Given the description of an element on the screen output the (x, y) to click on. 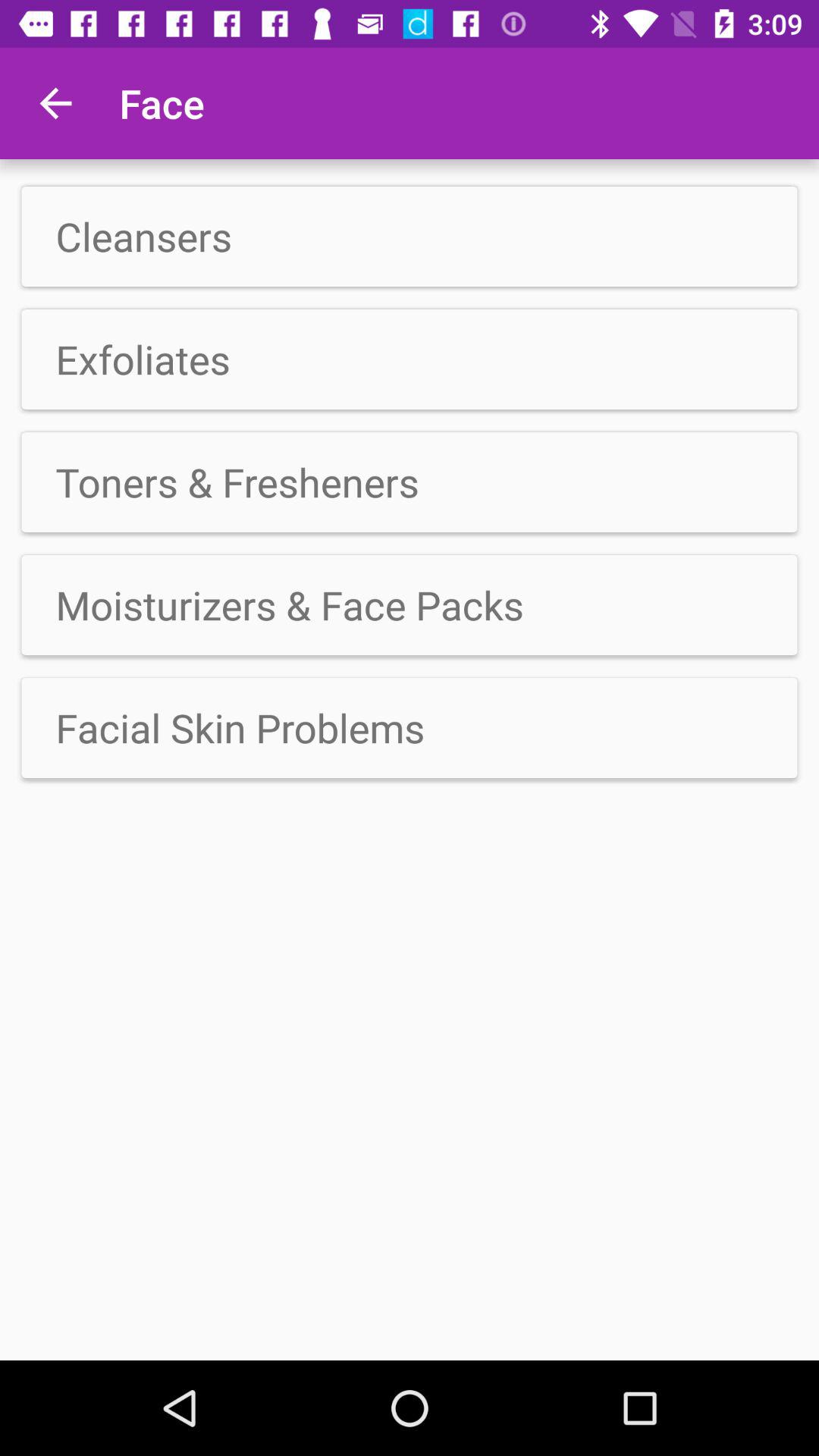
choose the icon next to the face app (55, 103)
